Given the description of an element on the screen output the (x, y) to click on. 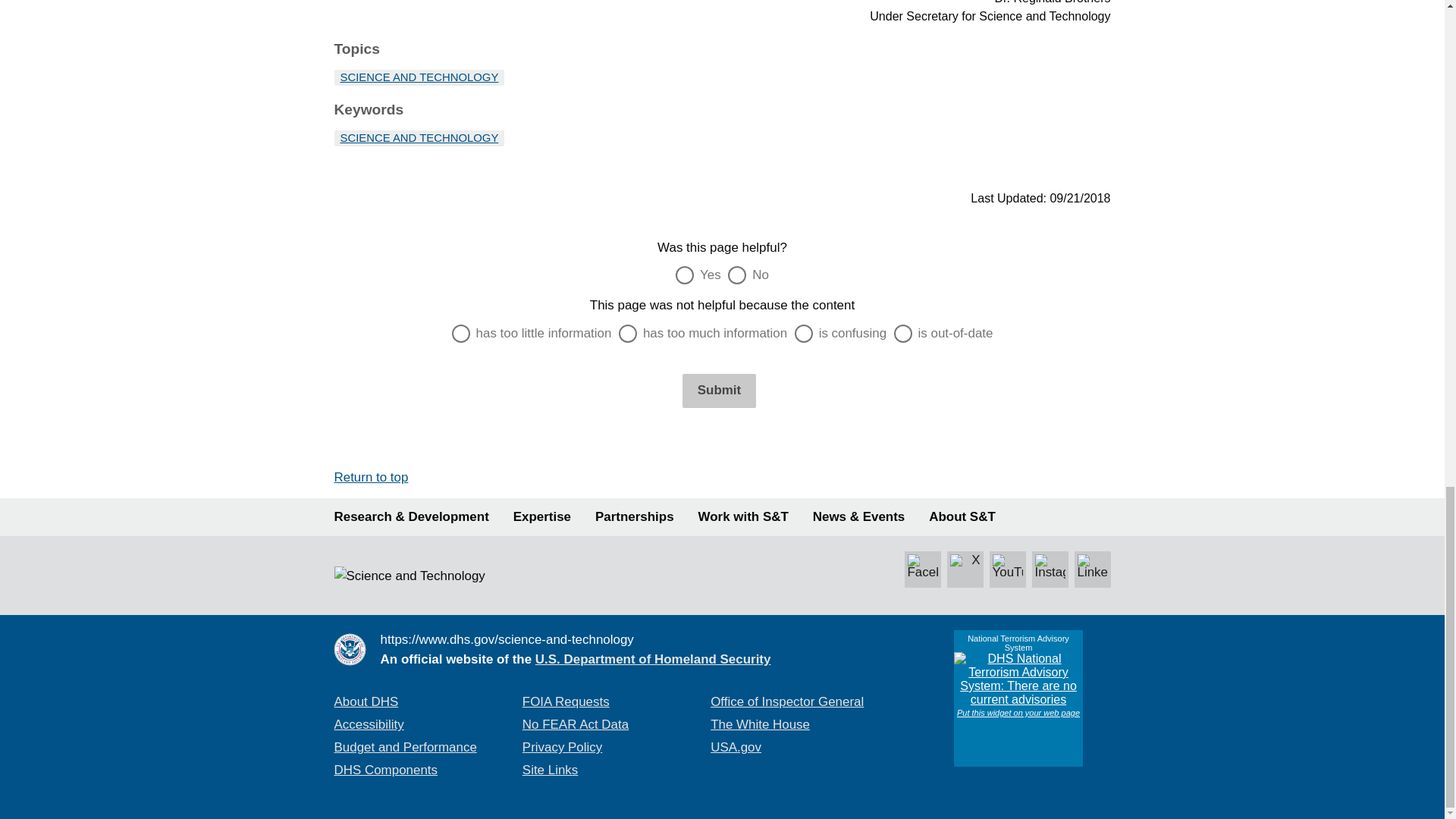
About DHS (365, 701)
Accessibility (368, 724)
Submit (718, 390)
SCIENCE AND TECHNOLOGY (418, 137)
U.S. Department of Homeland Security (653, 658)
Return to top (370, 477)
Submit (718, 390)
Budget and Performance (404, 747)
The White House (759, 724)
Office of the Inspector General (786, 701)
USA.gov (735, 747)
Expertise (541, 517)
Partnerships (634, 517)
SCIENCE AND TECHNOLOGY (418, 77)
Our Work (410, 517)
